Given the description of an element on the screen output the (x, y) to click on. 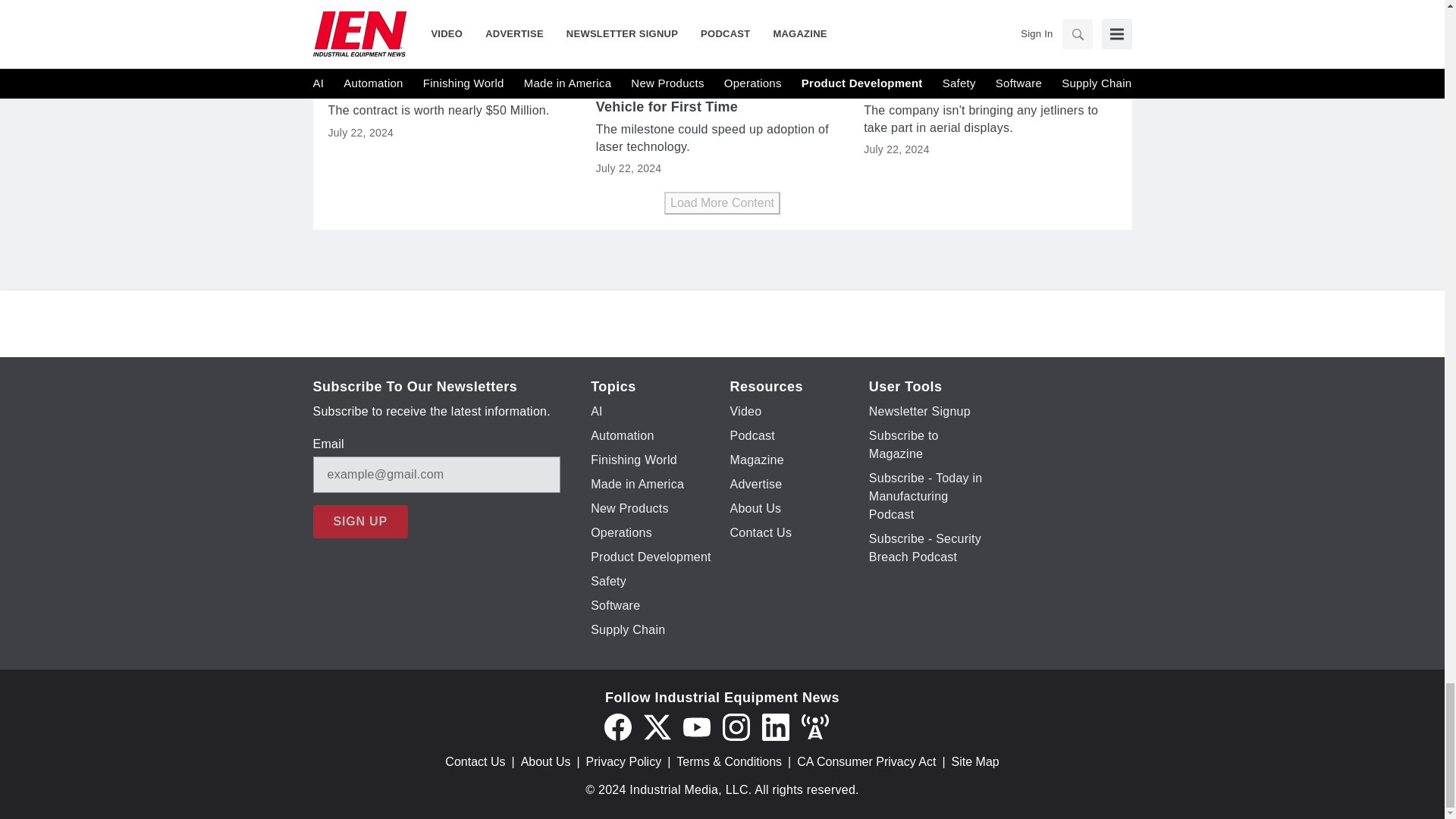
Instagram icon (735, 727)
LinkedIn icon (775, 727)
Facebook icon (617, 727)
YouTube icon (696, 727)
Twitter X icon (656, 727)
